Given the description of an element on the screen output the (x, y) to click on. 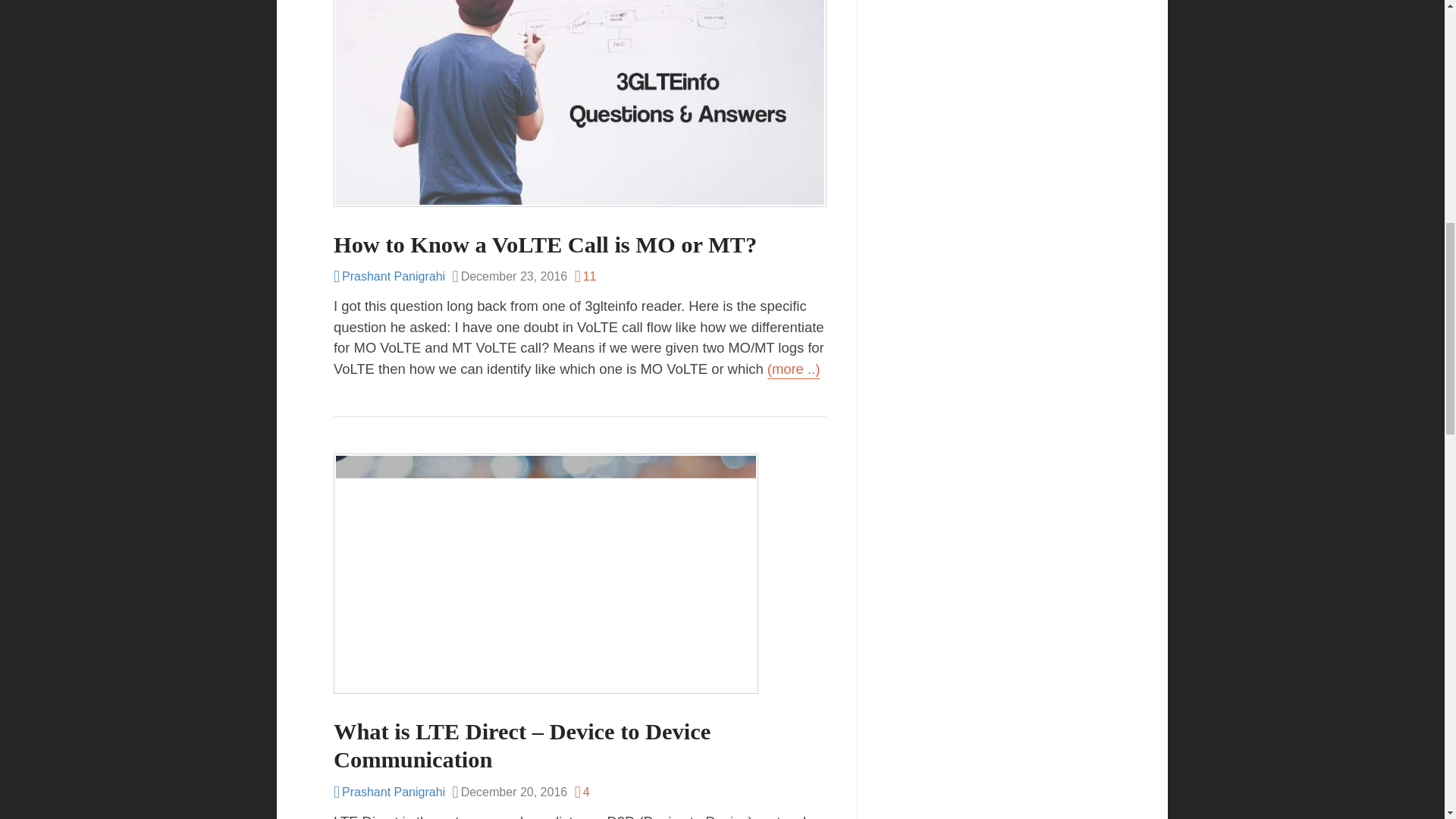
Friday, December 23, 2016, 3:17 pm (509, 276)
Prashant Panigrahi (389, 791)
11 (585, 276)
How to Know a VoLTE Call is MO or MT? (545, 244)
Posts by Prashant Panigrahi (389, 276)
Prashant Panigrahi (389, 276)
Posts by Prashant Panigrahi (389, 791)
Tuesday, December 20, 2016, 5:49 pm (509, 792)
